Given the description of an element on the screen output the (x, y) to click on. 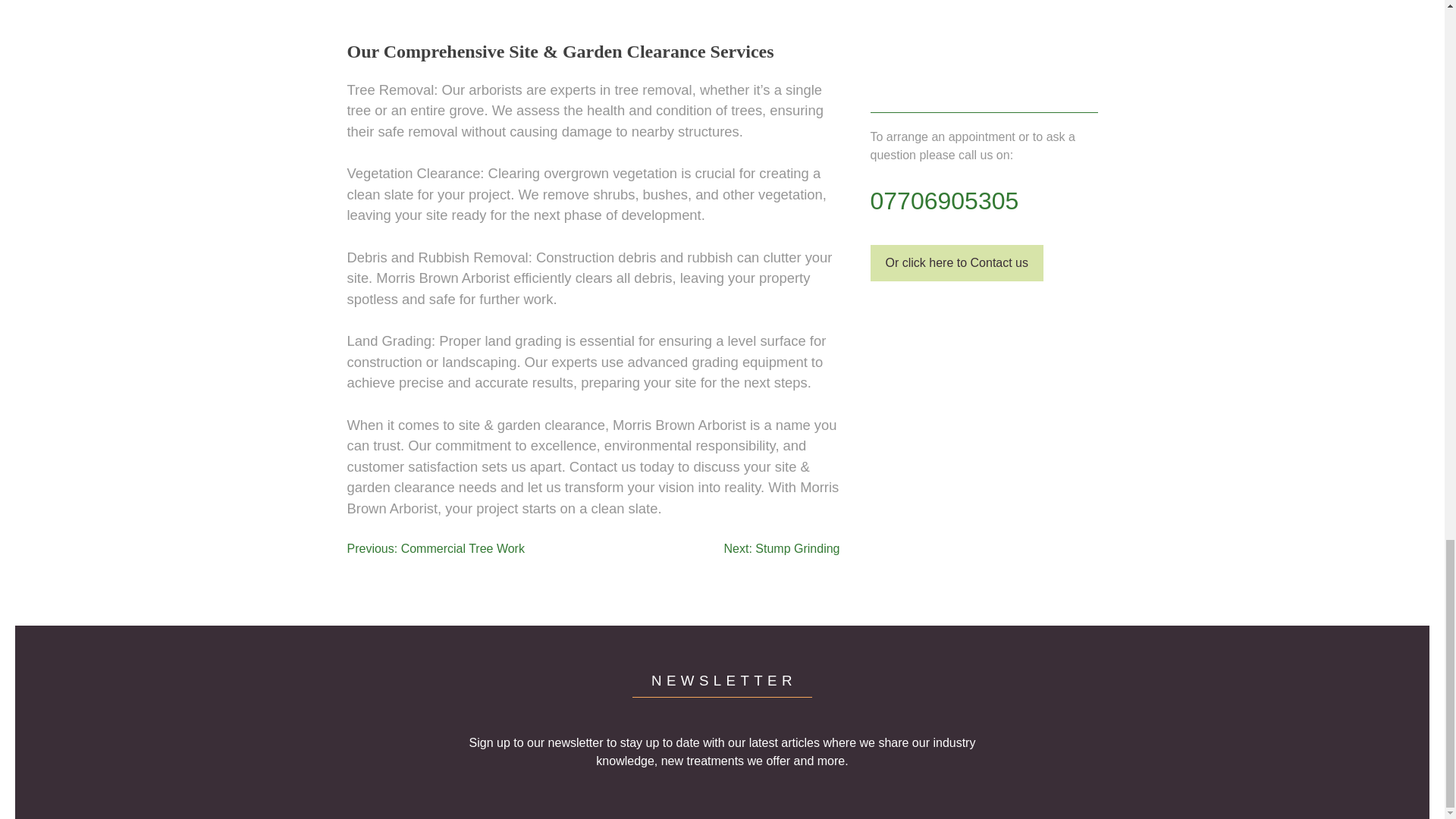
Next: Stump Grinding (781, 548)
Previous: Commercial Tree Work (435, 548)
